Given the description of an element on the screen output the (x, y) to click on. 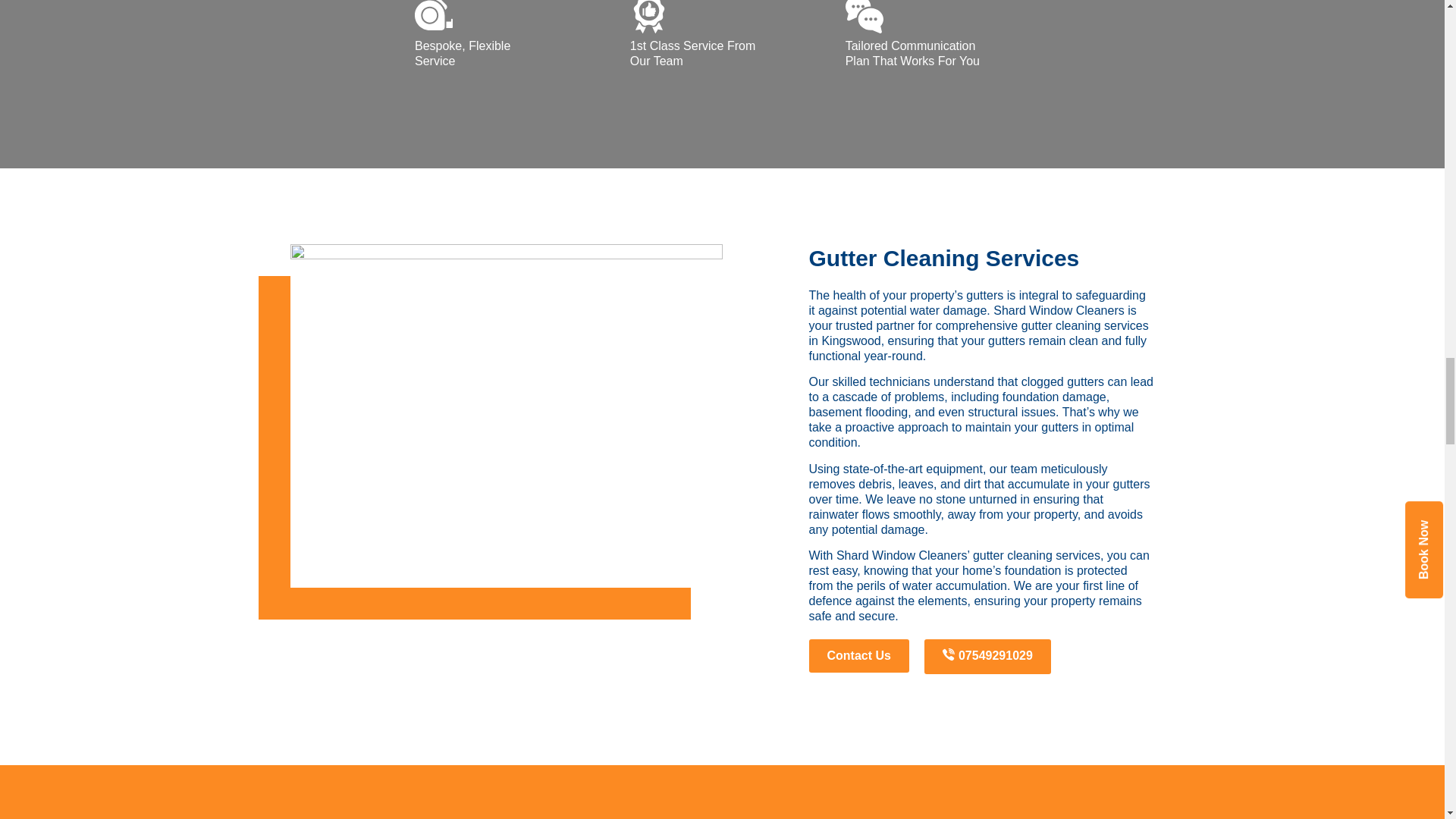
07549291029 (987, 656)
Contact Us (858, 655)
